Given the description of an element on the screen output the (x, y) to click on. 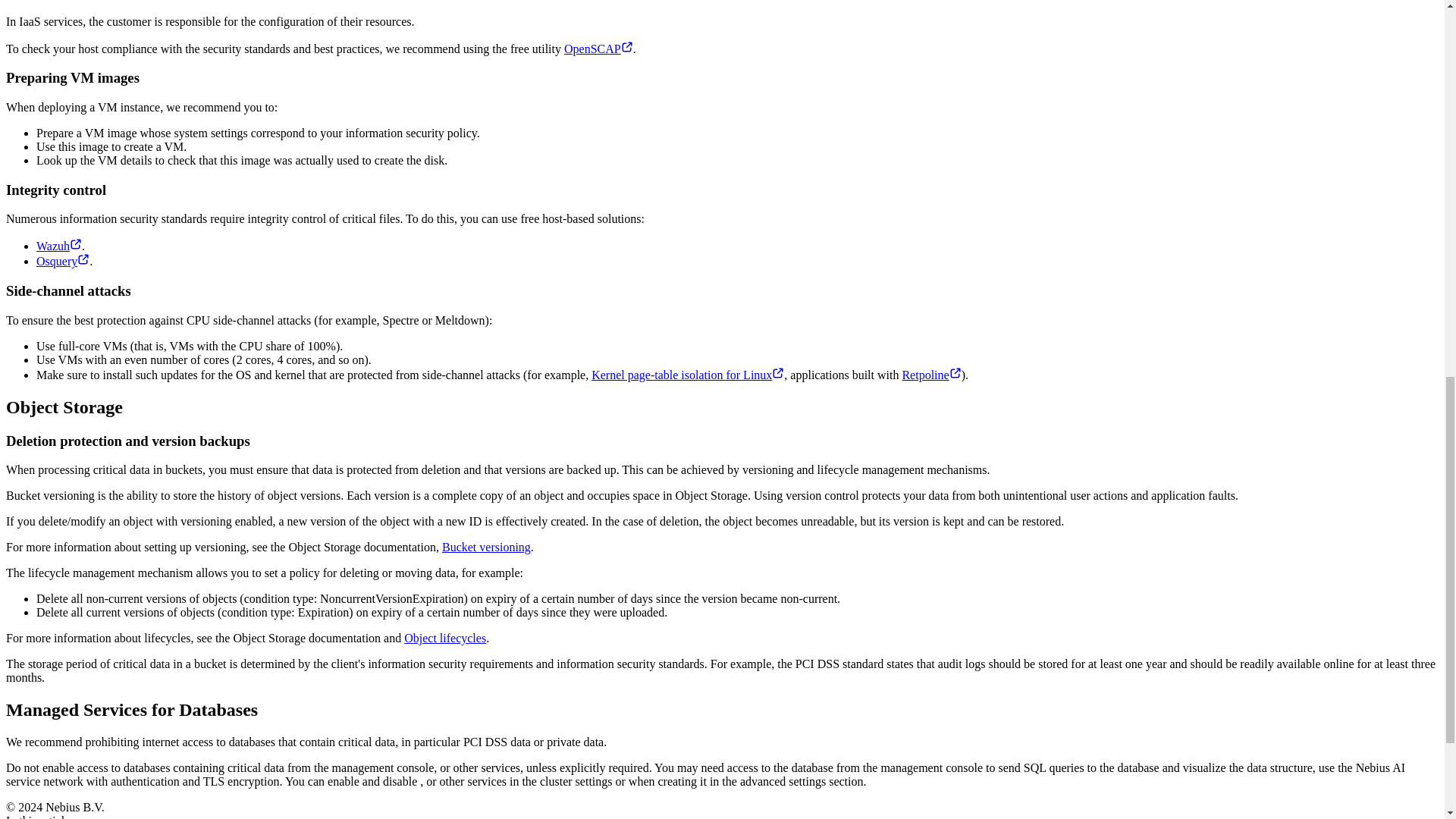
Wazuh (58, 245)
OpenSCAP (598, 48)
